Given the description of an element on the screen output the (x, y) to click on. 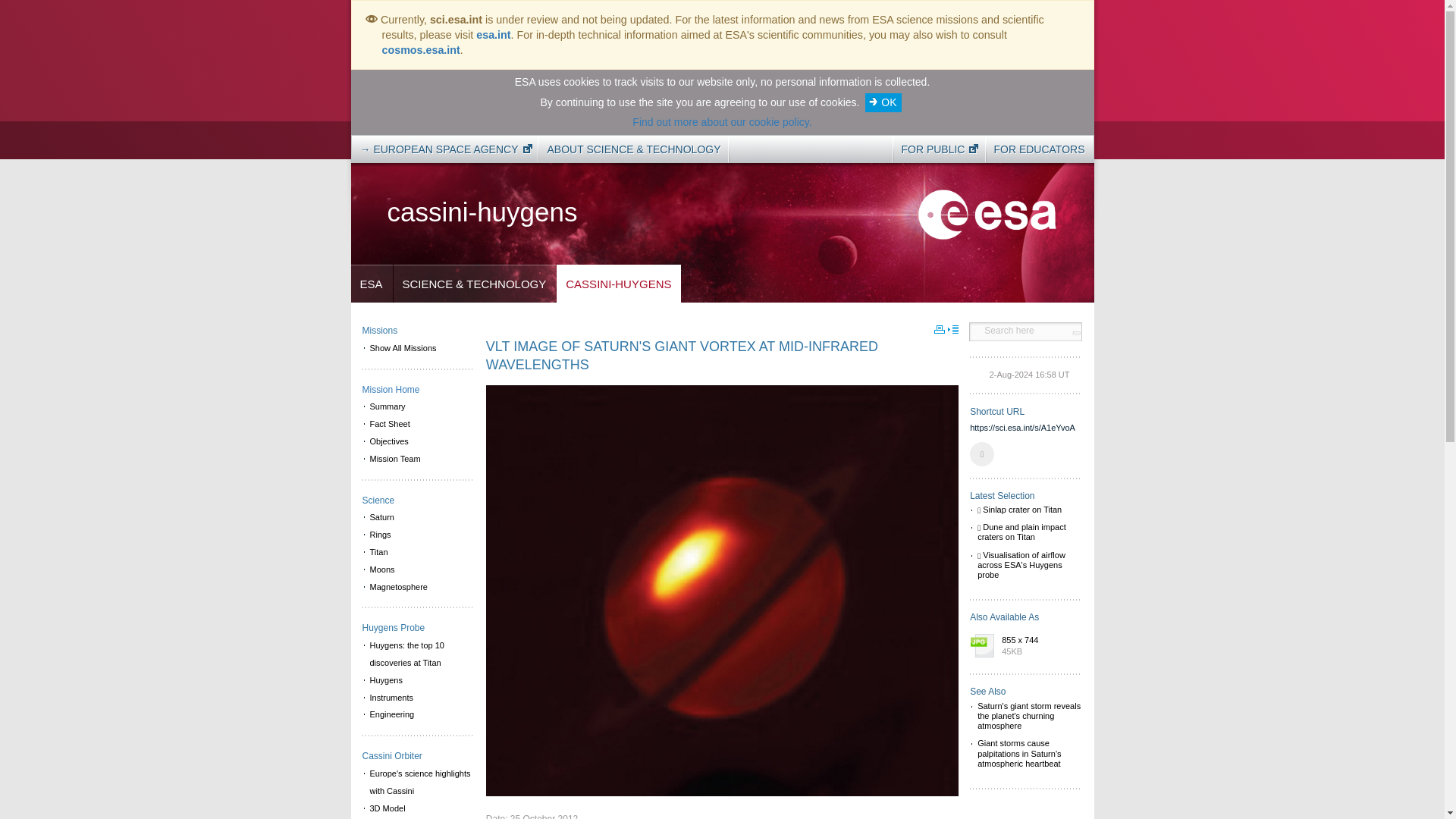
esa.int (493, 34)
cosmos.esa.int (420, 50)
